Given the description of an element on the screen output the (x, y) to click on. 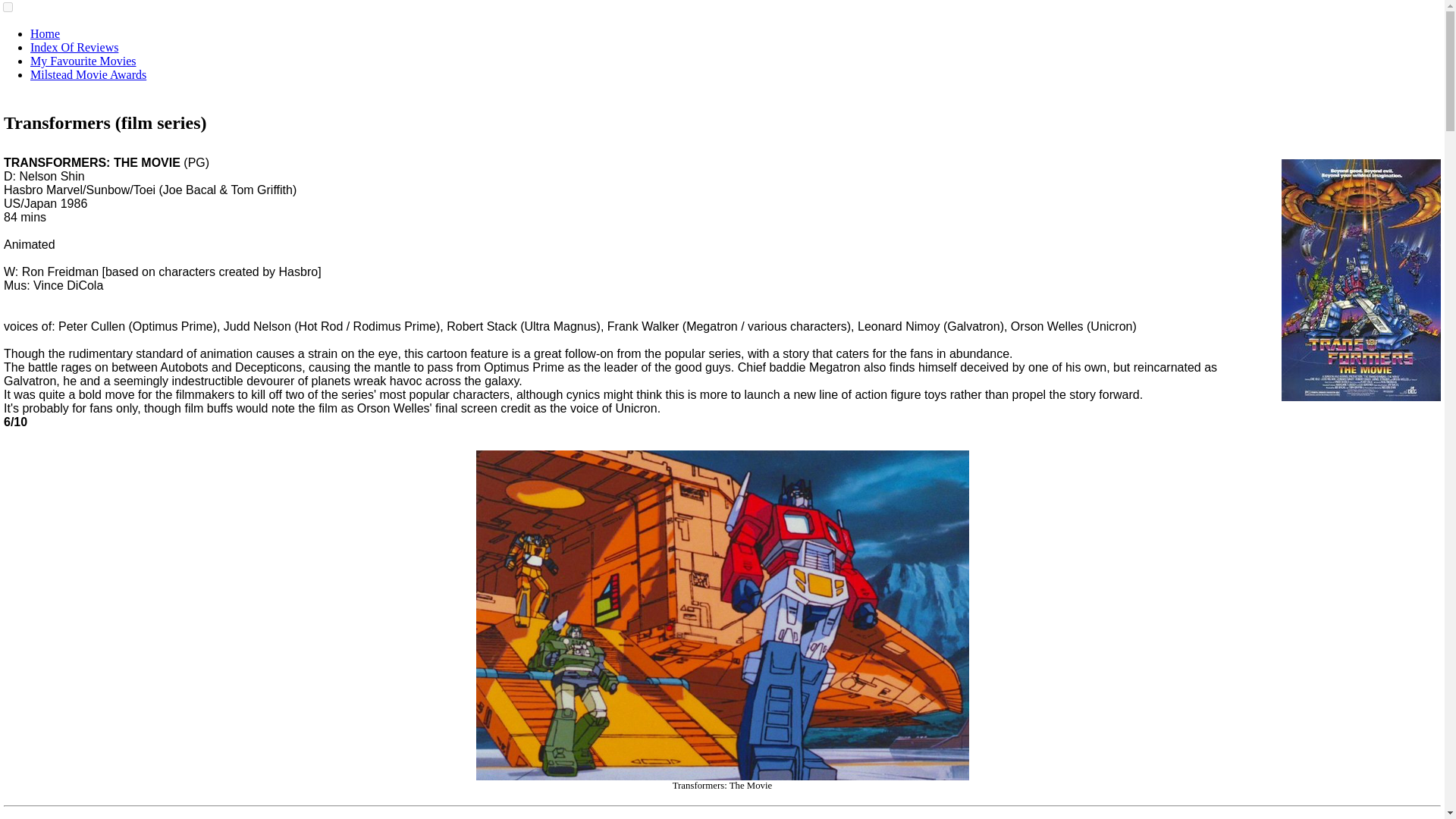
Milstead Movie Awards (88, 74)
My Favourite Movies (83, 60)
Home (44, 33)
on (7, 7)
Index Of Reviews (73, 47)
